Given the description of an element on the screen output the (x, y) to click on. 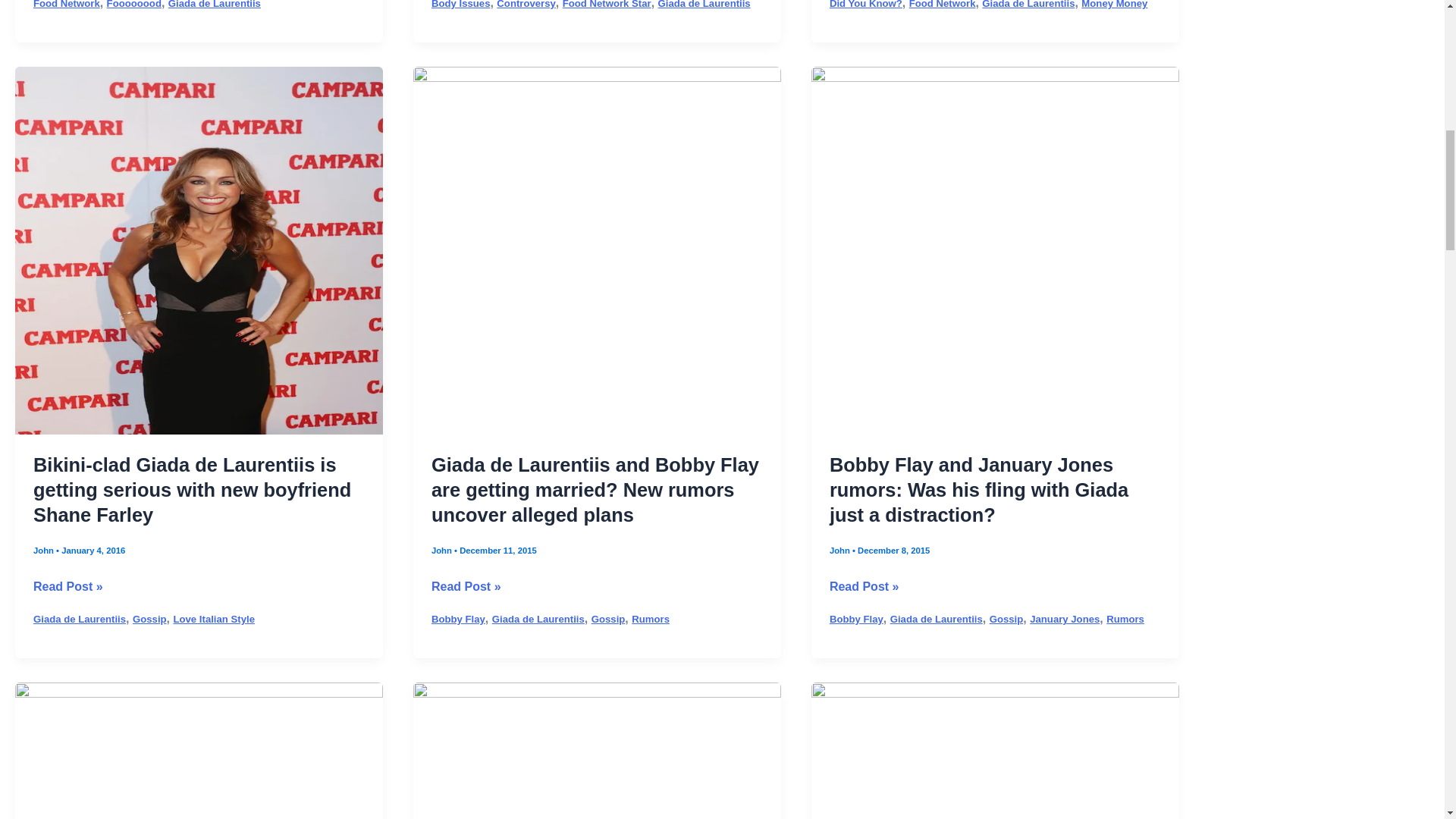
View all posts by John (840, 550)
View all posts by John (442, 550)
View all posts by John (44, 550)
